Given the description of an element on the screen output the (x, y) to click on. 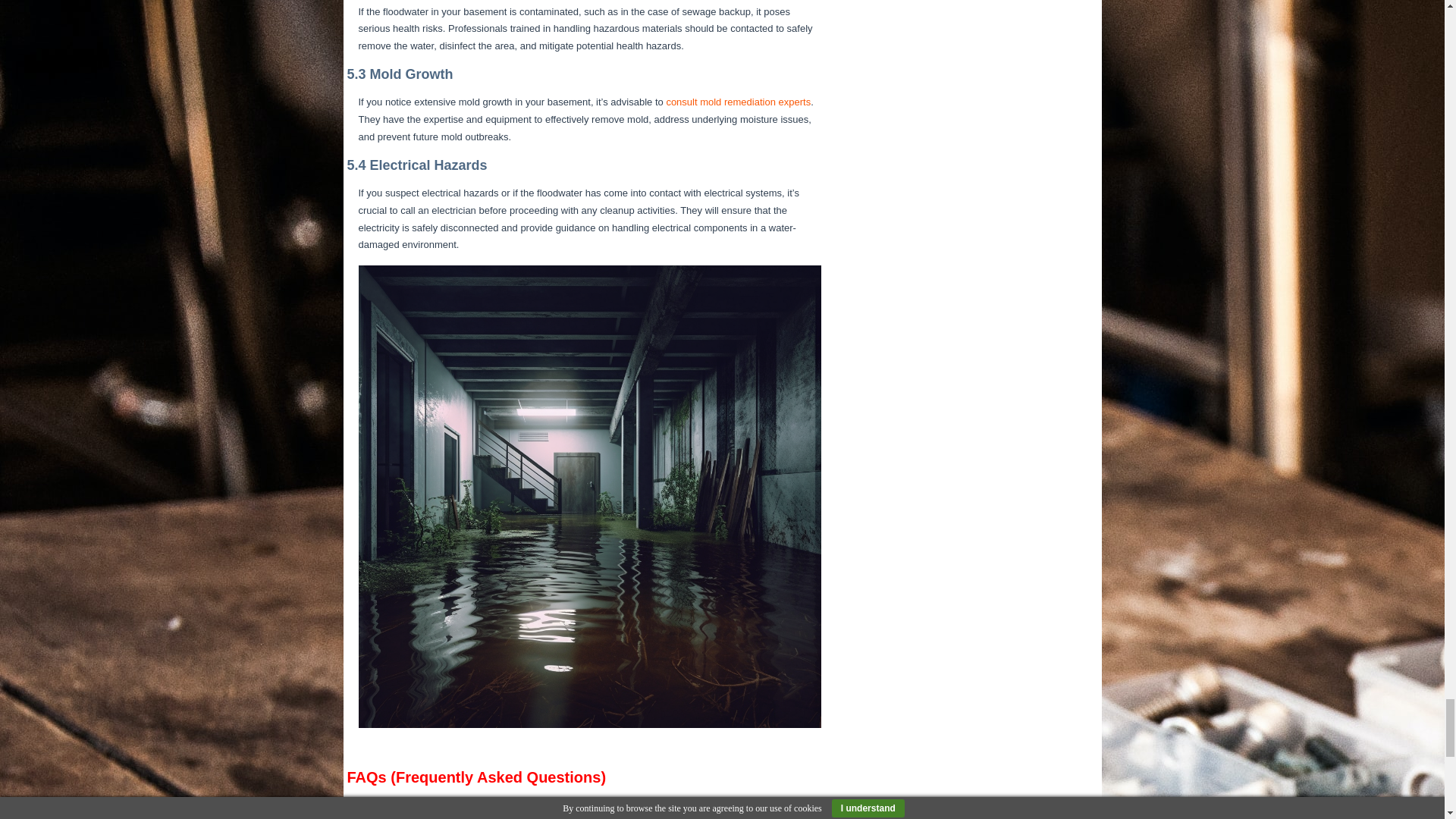
consult mold remediation experts (737, 101)
